Given the description of an element on the screen output the (x, y) to click on. 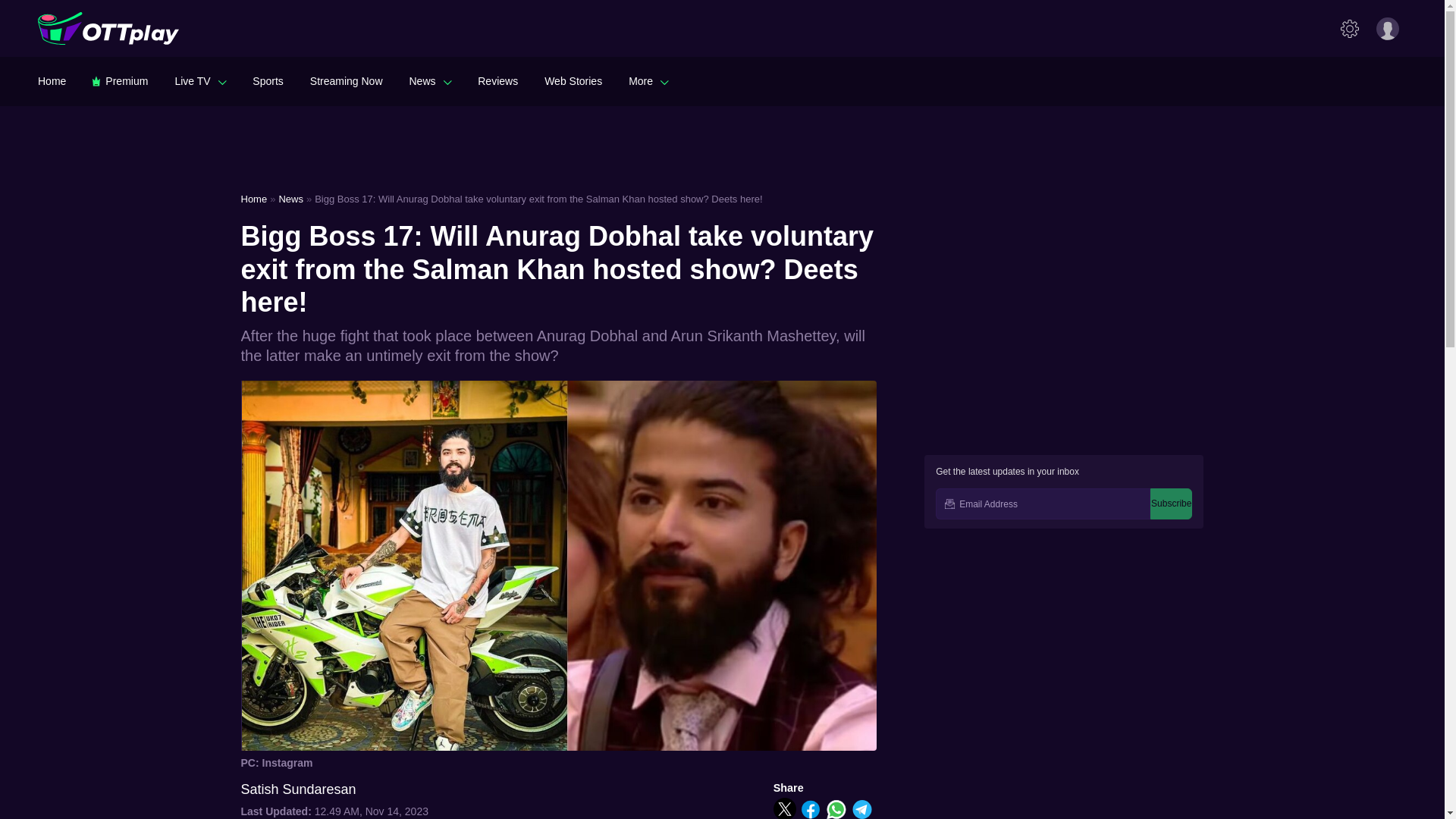
Web Stories (573, 80)
News (430, 80)
Premium (120, 80)
Streaming Now (346, 80)
Live TV (199, 80)
